Given the description of an element on the screen output the (x, y) to click on. 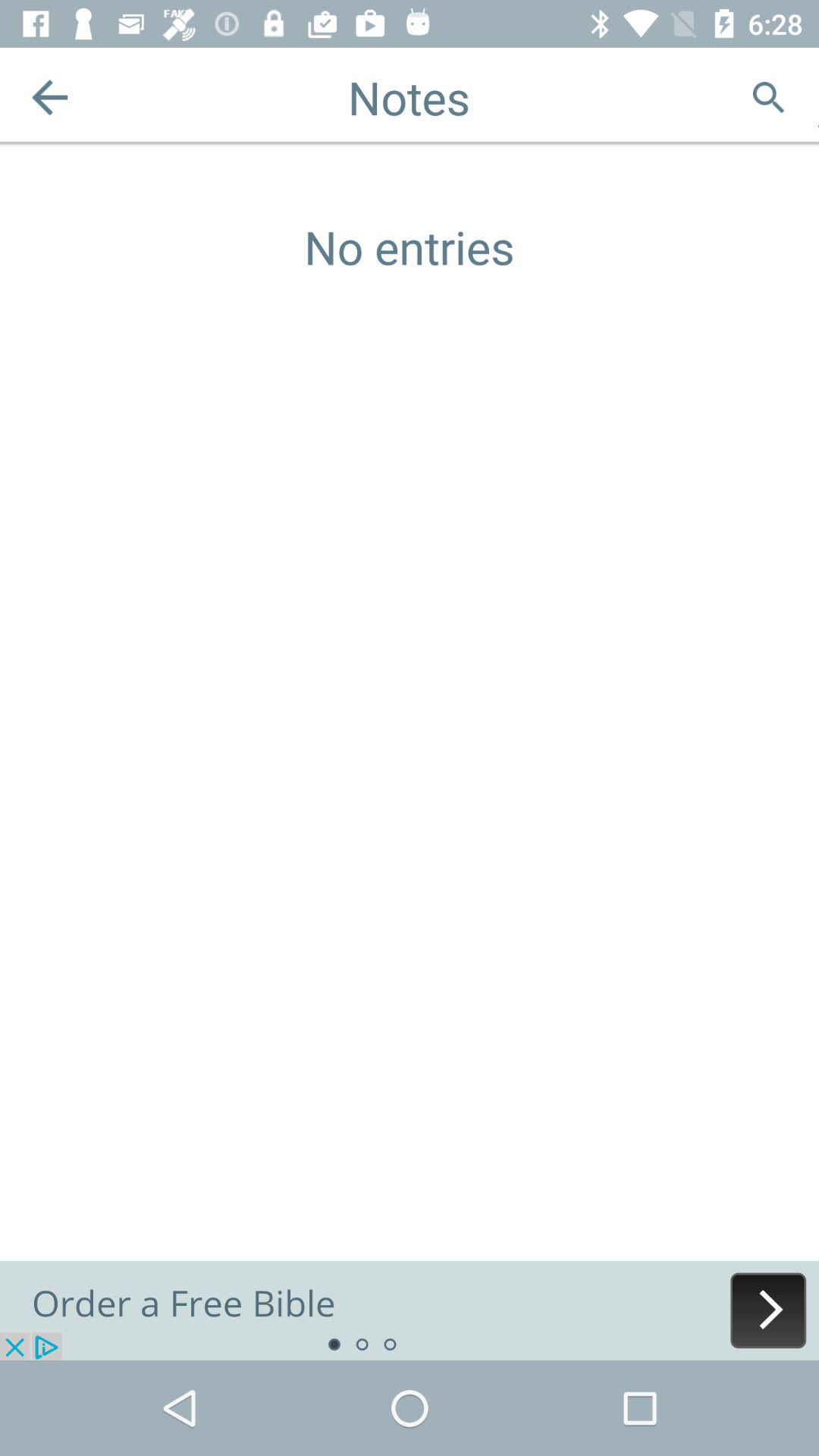
advertisement order a free bible (409, 1310)
